Given the description of an element on the screen output the (x, y) to click on. 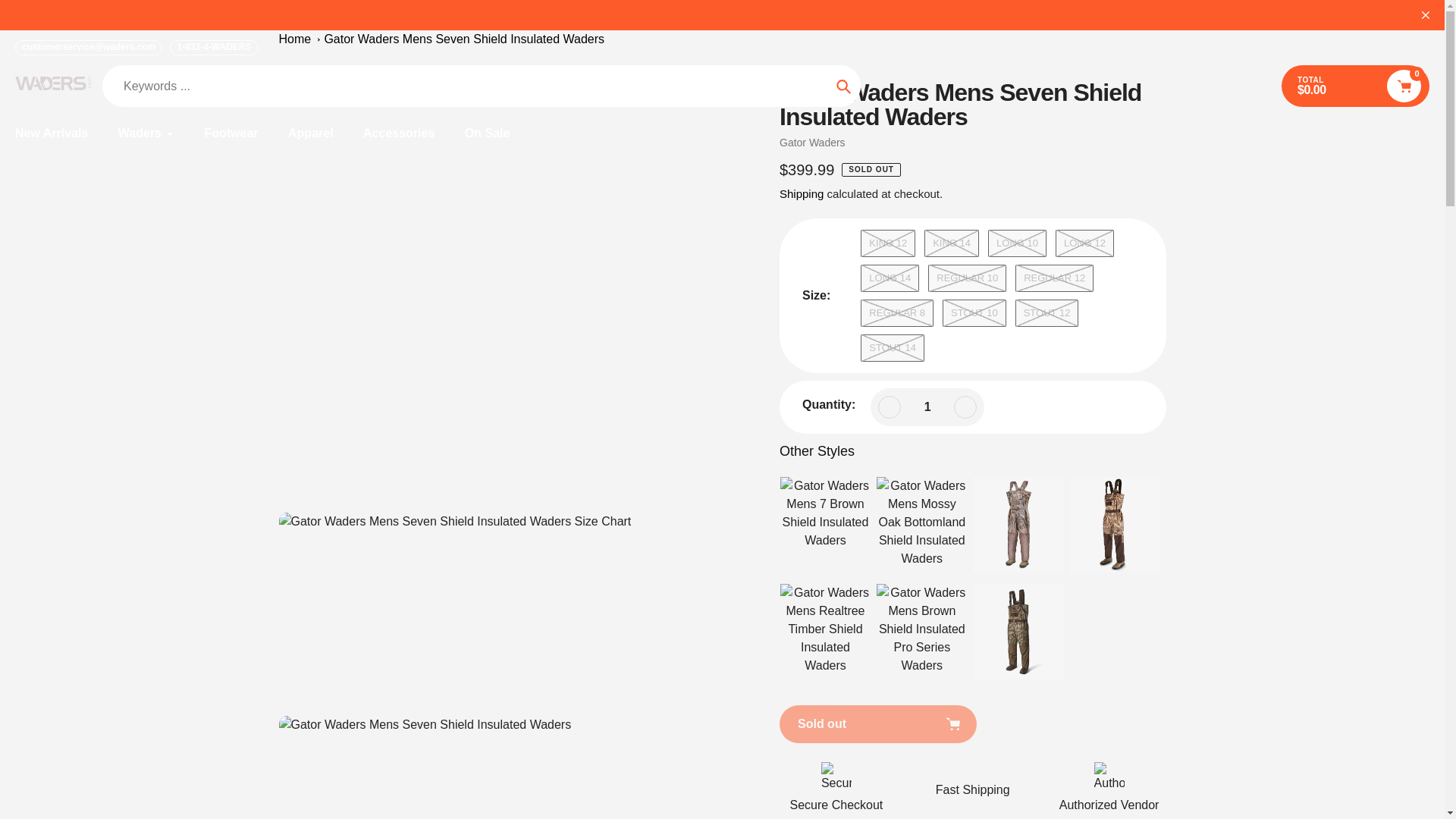
Apparel (310, 133)
Gator Waders (811, 142)
Footwear (230, 133)
Gator Waders Mens Realtree Max-7 Shield Insulated Waders (1114, 524)
Accessories (397, 133)
New Arrivals (50, 133)
On Sale (487, 133)
Gator Waders Mens 7 Brown Shield Insulated Waders (824, 524)
Gator Waders Mens Brown Shield Insulated Pro Series Waders (922, 631)
